Given the description of an element on the screen output the (x, y) to click on. 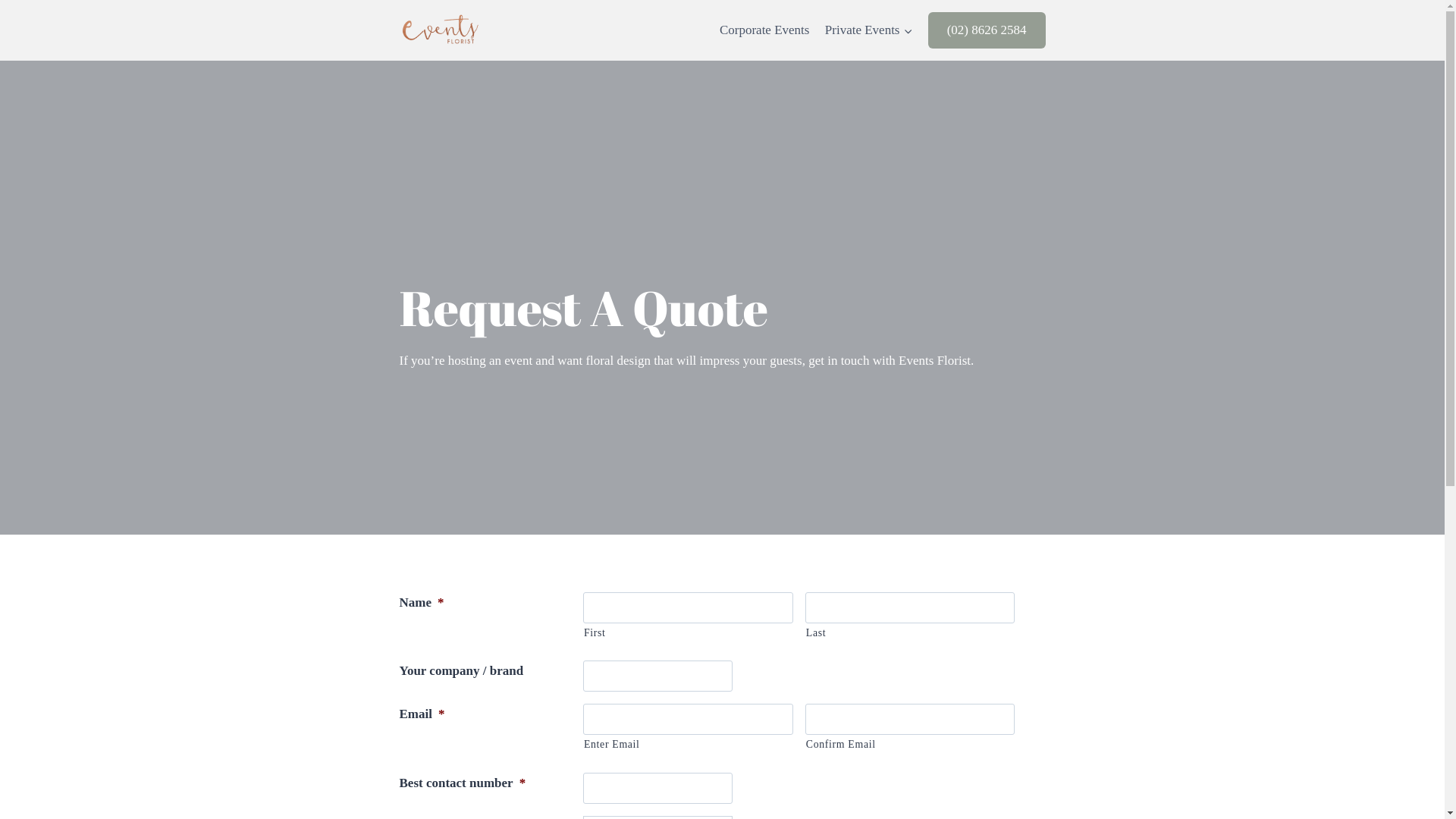
Corporate Events Element type: text (764, 30)
Private Events Element type: text (868, 30)
(02) 8626 2584 Element type: text (986, 29)
